Given the description of an element on the screen output the (x, y) to click on. 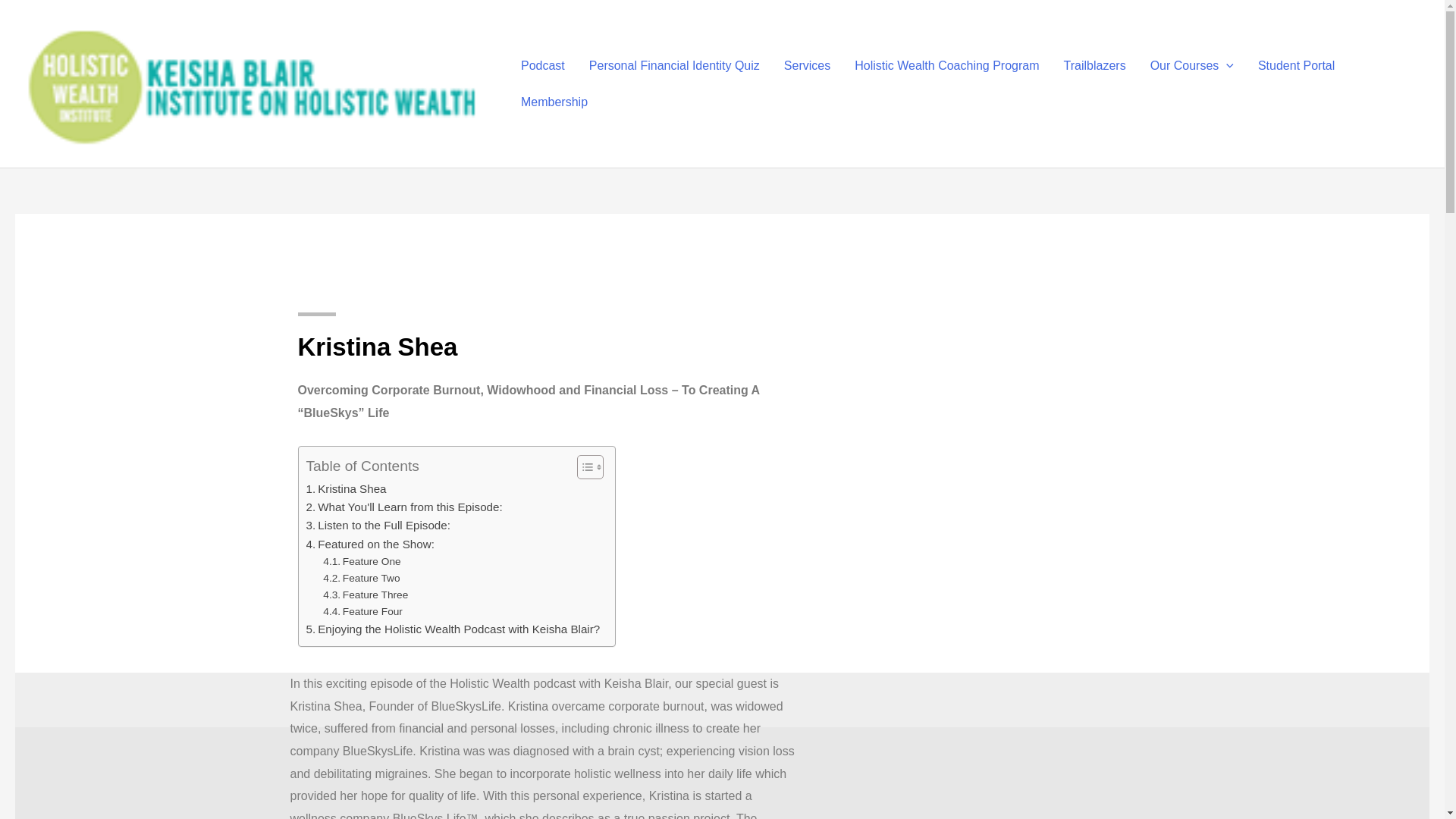
Listen to the Full Episode: (377, 525)
Feature Three (365, 595)
Feature Two (360, 578)
Student Portal (1296, 65)
Our Courses (1192, 65)
Feature Four (363, 611)
What You'll Learn from this Episode: (403, 506)
Services (807, 65)
Featured on the Show: (369, 544)
Personal Financial Identity Quiz (673, 65)
